Given the description of an element on the screen output the (x, y) to click on. 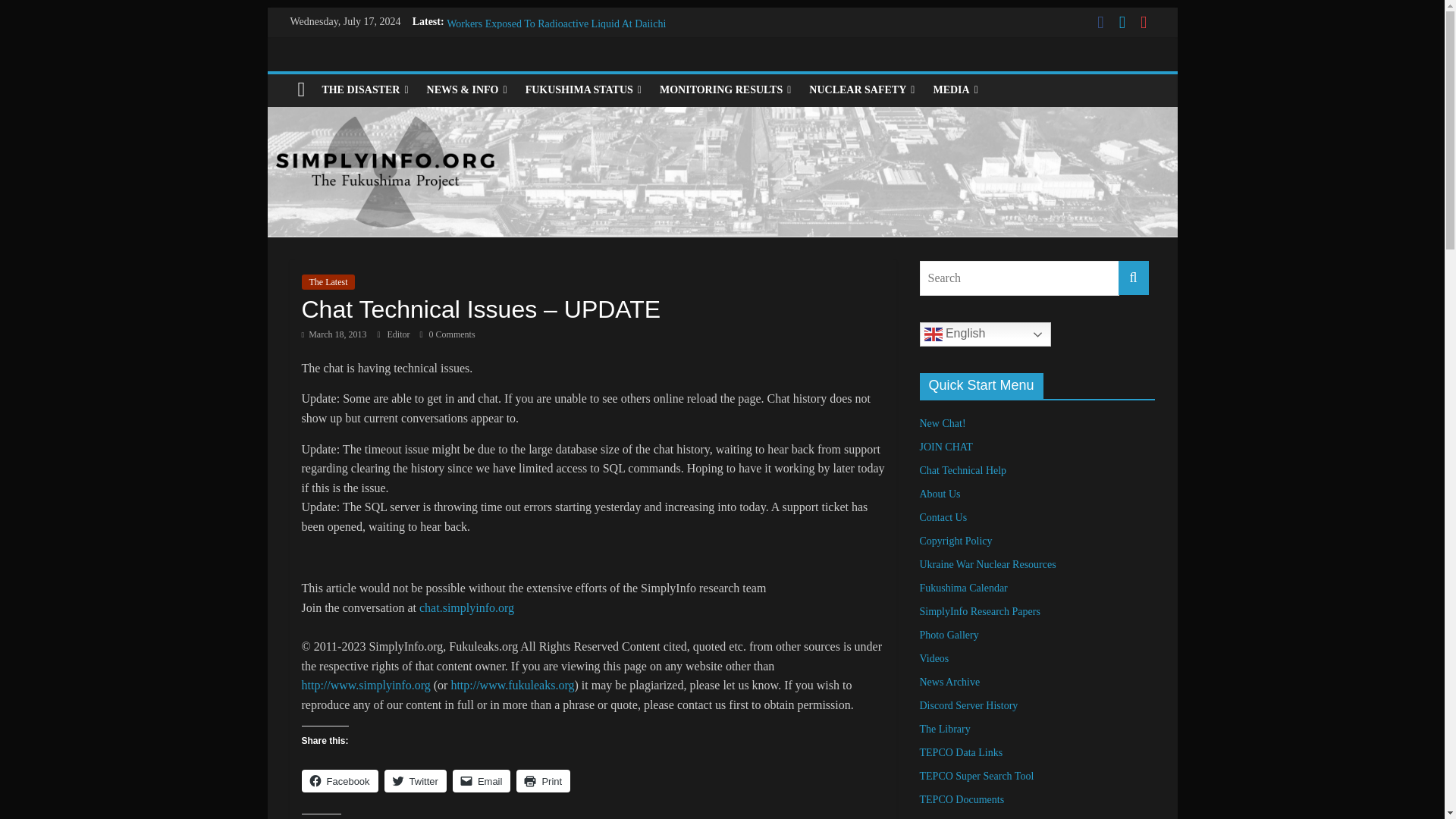
SimplyInfo.org: Nuclear News Roundup 11.5.23 (549, 6)
Workers Exposed To Radioactive Liquid At Daiichi (555, 23)
SimplyInfo.org: 13th Anniversary Report Fukushima Daiichi (576, 40)
Click to share on Facebook (339, 780)
SimplyInfo.org: 13th Anniversary Report Fukushima Daiichi (576, 40)
SimplyInfo.org (301, 90)
Editor (399, 334)
Click to email a link to a friend (481, 780)
11:57 am (333, 334)
Click to share on Twitter (415, 780)
Workers Exposed To Radioactive Liquid At Daiichi (555, 23)
THE DISASTER (364, 90)
Click to print (543, 780)
SimplyInfo.org: Nuclear News Roundup 11.5.23 (549, 6)
